Given the description of an element on the screen output the (x, y) to click on. 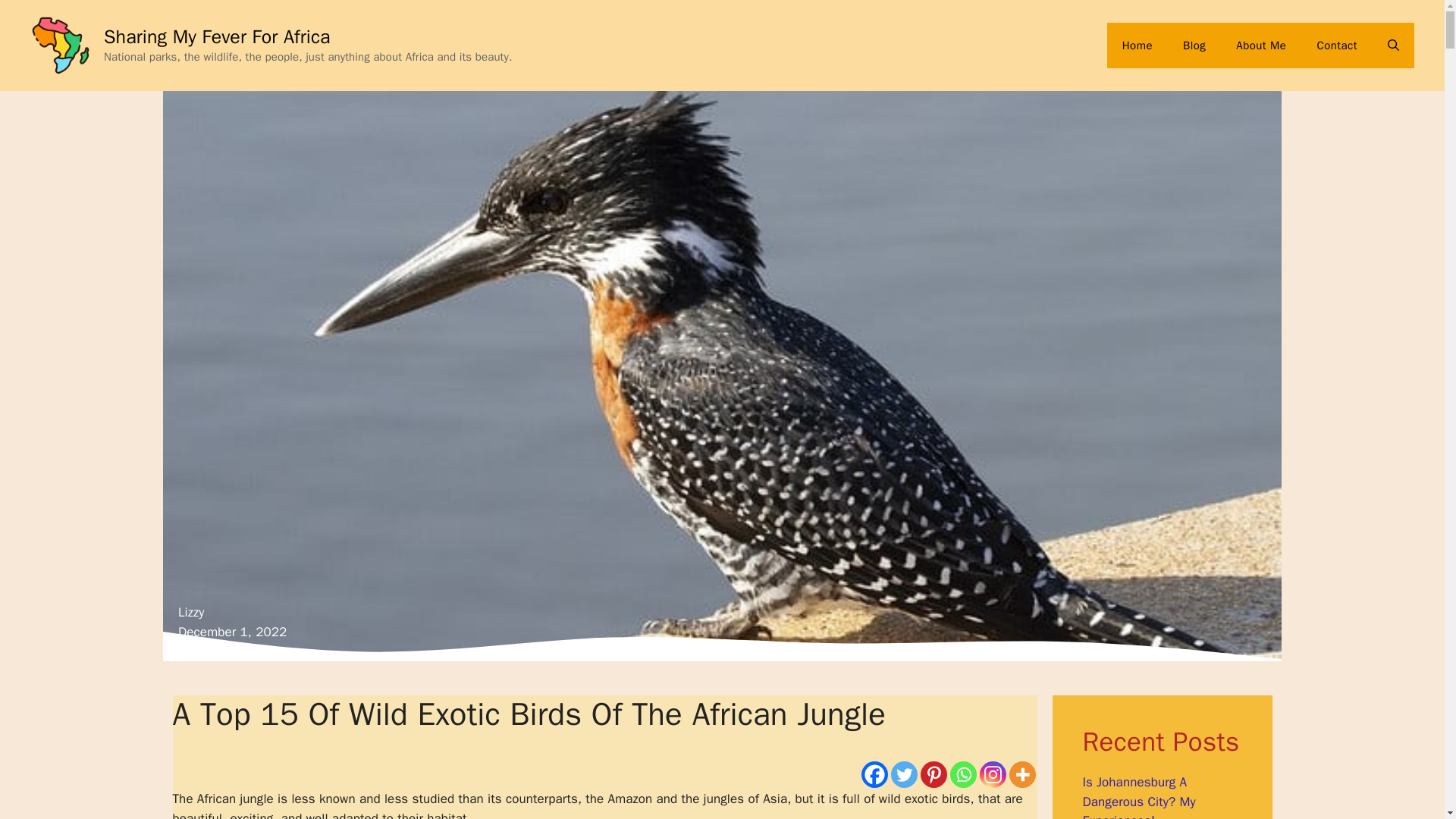
My Fever For Africa (1261, 44)
Africa places to stay. (1136, 44)
Facebook (874, 774)
The Fever For Africa Blog (1194, 44)
Contact (1337, 44)
Sharing My Fever For Africa (216, 36)
About Me (1261, 44)
Home (1136, 44)
Lizzy (191, 611)
Blog (1194, 44)
Contact me for any questions (1337, 44)
